Given the description of an element on the screen output the (x, y) to click on. 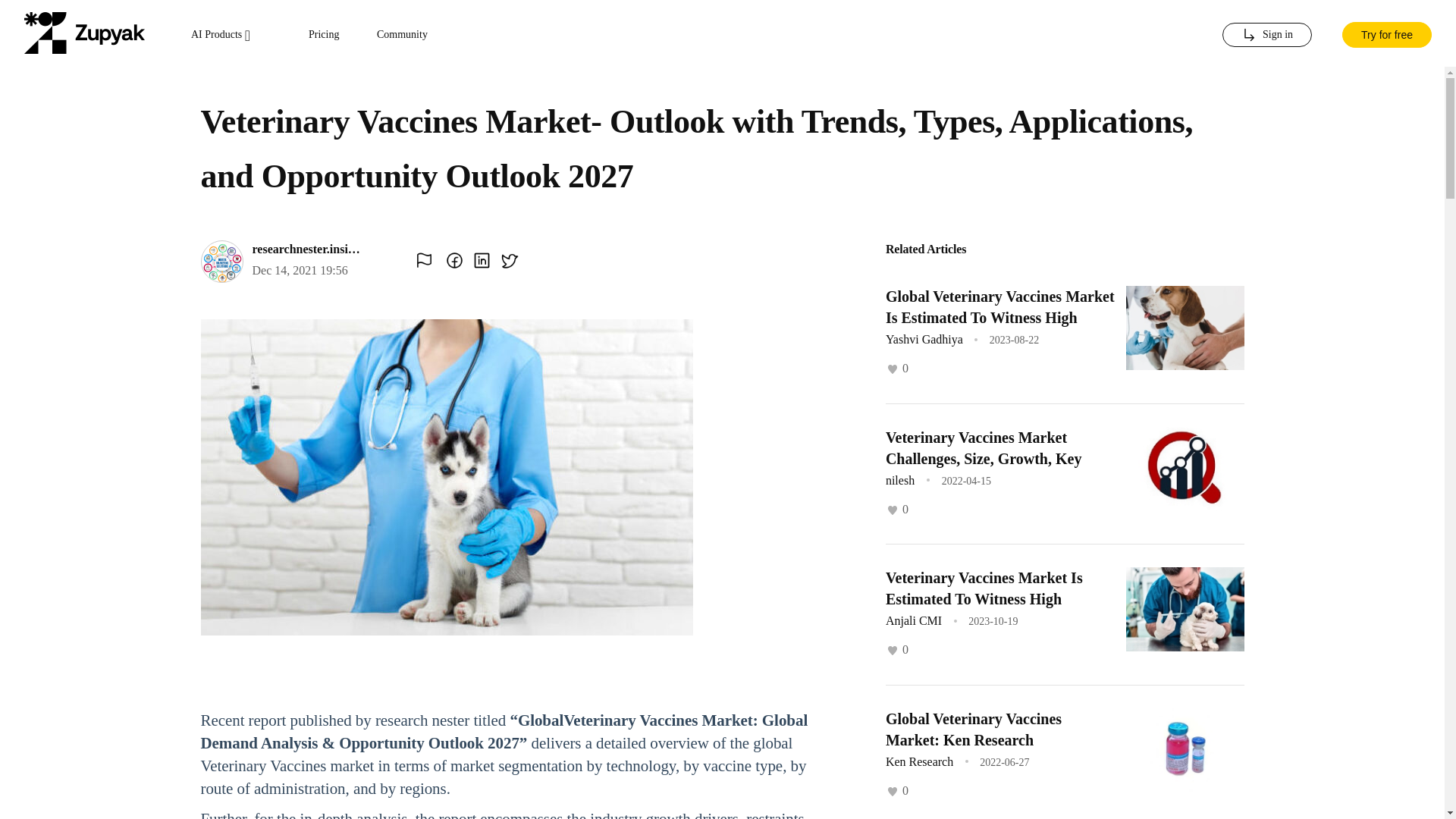
Community (402, 34)
Try for free (1386, 33)
Pricing (323, 34)
Global Veterinary Vaccines Market: Ken Research  (973, 728)
 Sign in (1267, 34)
